Given the description of an element on the screen output the (x, y) to click on. 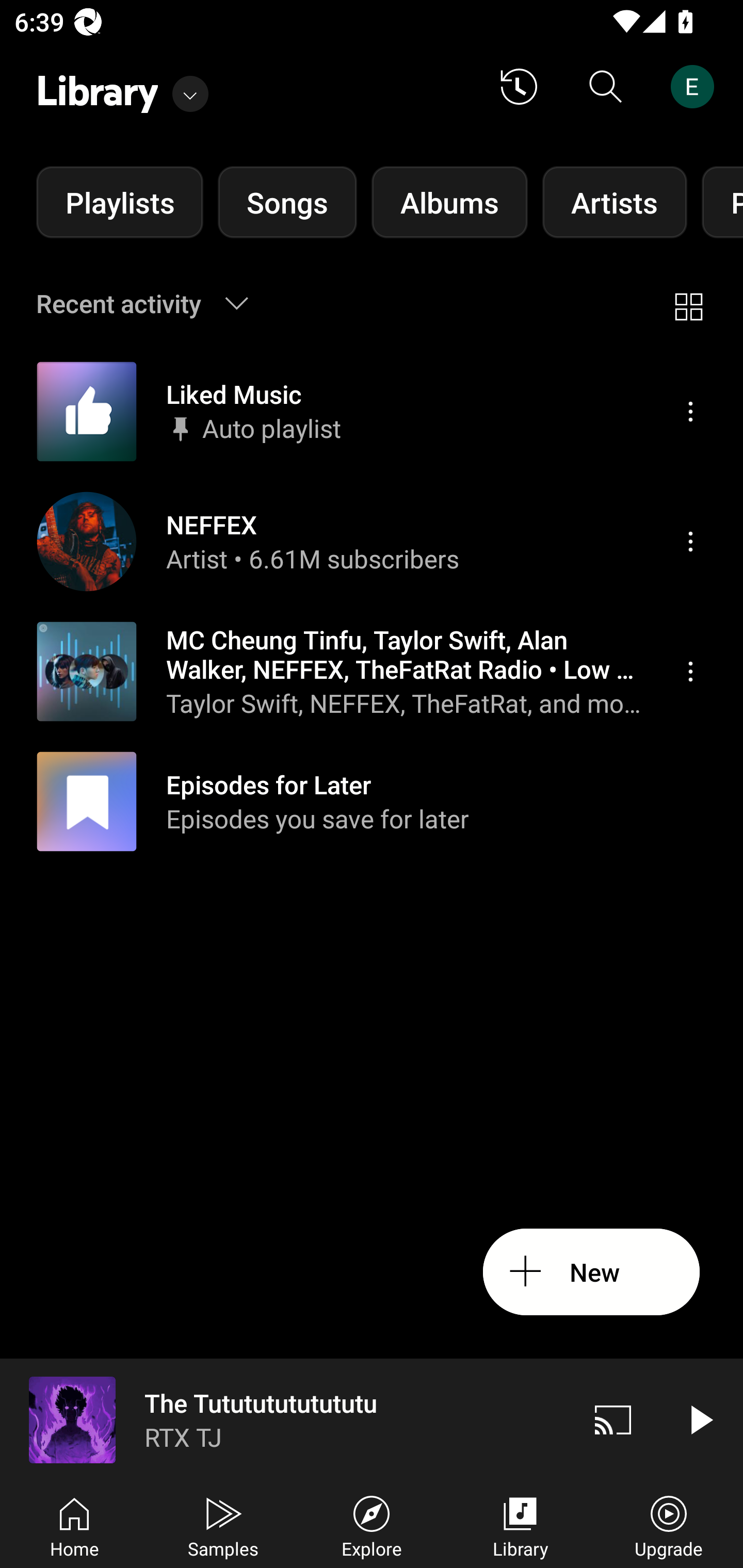
Show library landing selected Library (121, 86)
History (518, 86)
Search (605, 86)
Account (696, 86)
Recent activity selected Recent activity (154, 303)
Show in grid view (688, 303)
Menu (690, 411)
Menu (690, 540)
Menu (690, 671)
New (590, 1272)
The Tutututututututu RTX TJ (284, 1419)
Cast. Disconnected (612, 1419)
Play video (699, 1419)
Home (74, 1524)
Samples (222, 1524)
Explore (371, 1524)
Upgrade (668, 1524)
